Given the description of an element on the screen output the (x, y) to click on. 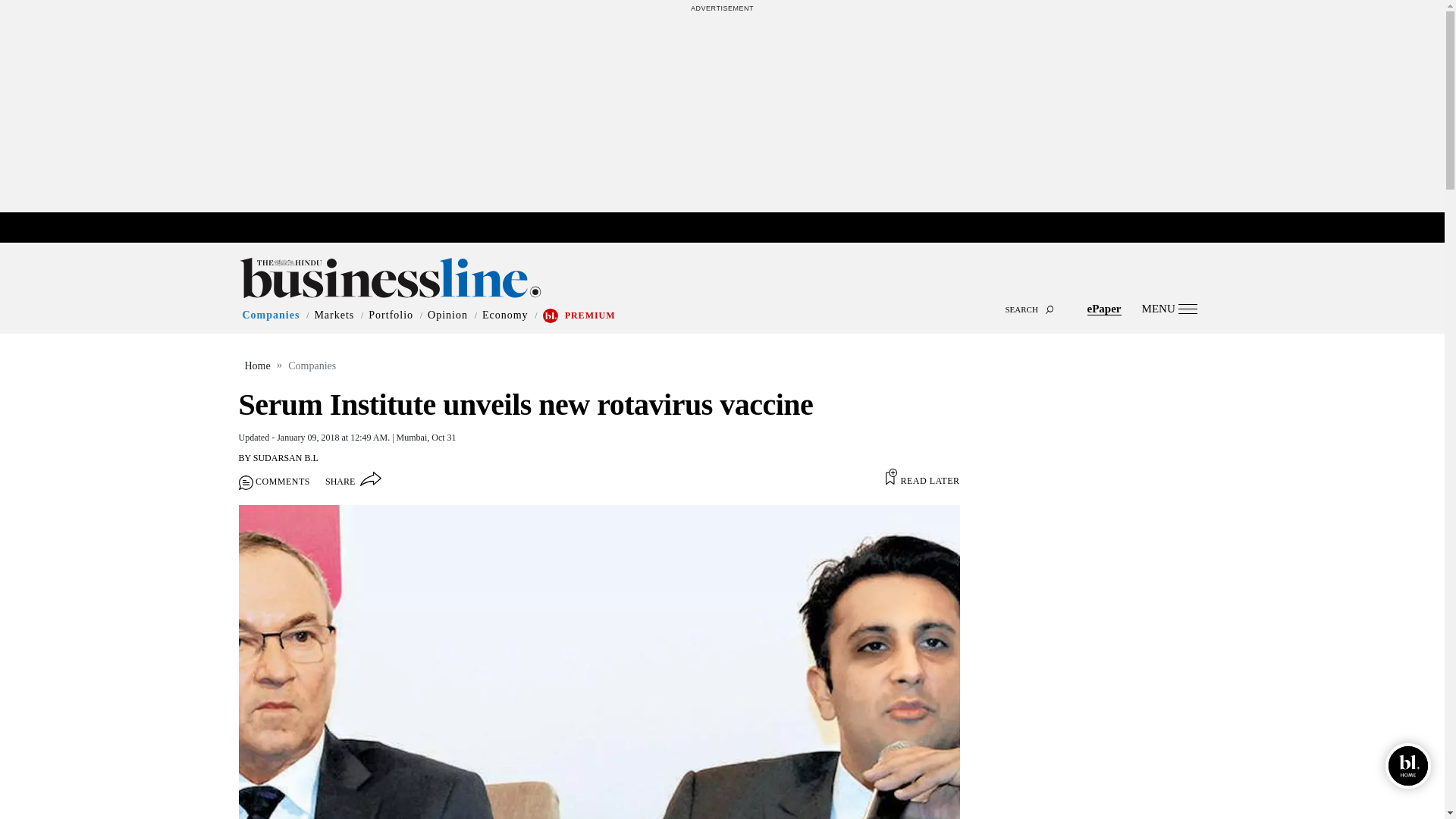
Economy (504, 315)
Companies (271, 315)
Opinion (447, 315)
PREMIUM (589, 315)
Portfolio (390, 315)
MENU (1168, 308)
ePaper (1104, 308)
SEARCH (721, 295)
Markets (333, 315)
